Given the description of an element on the screen output the (x, y) to click on. 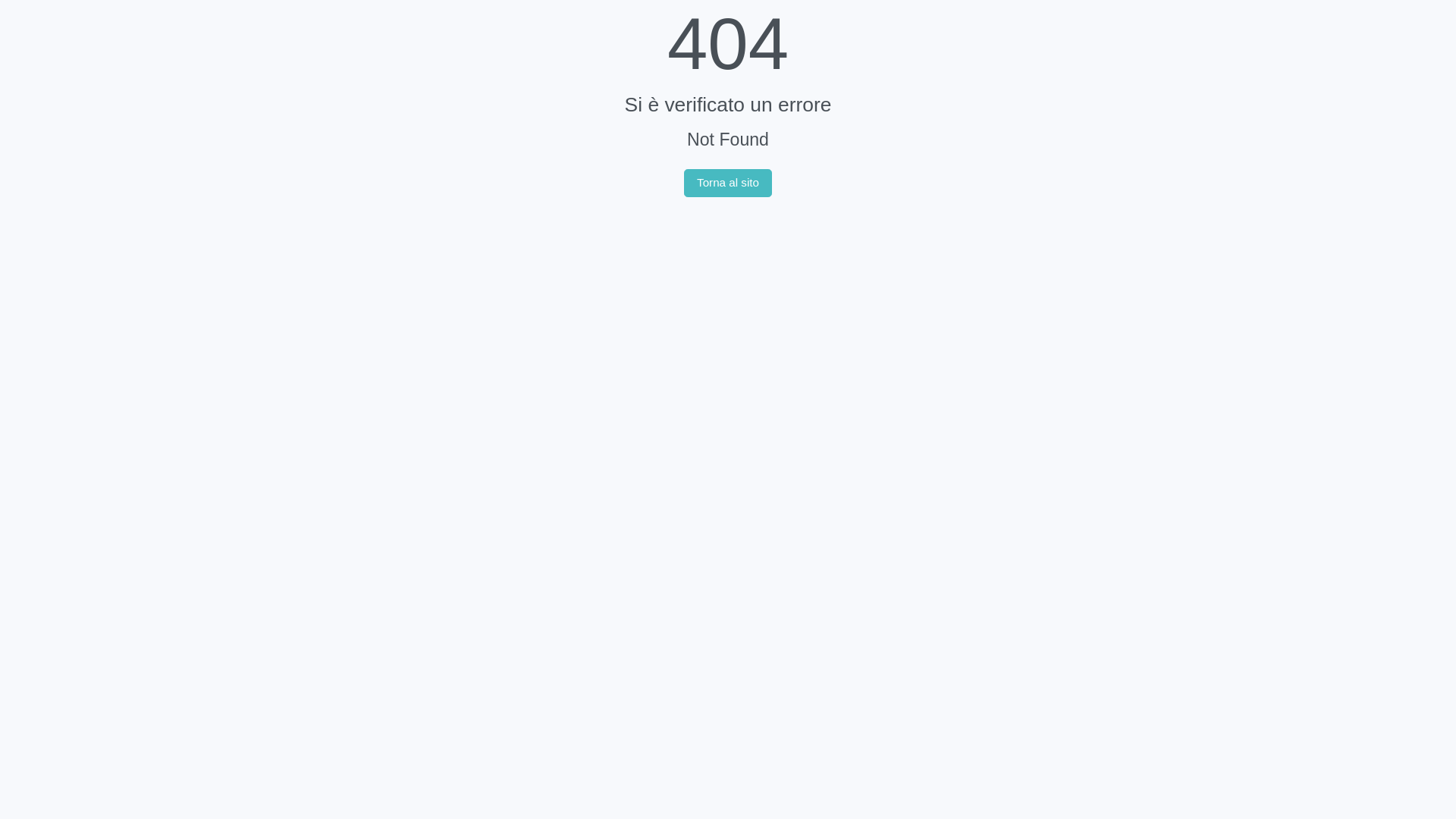
Torna al sito Element type: text (727, 183)
